Given the description of an element on the screen output the (x, y) to click on. 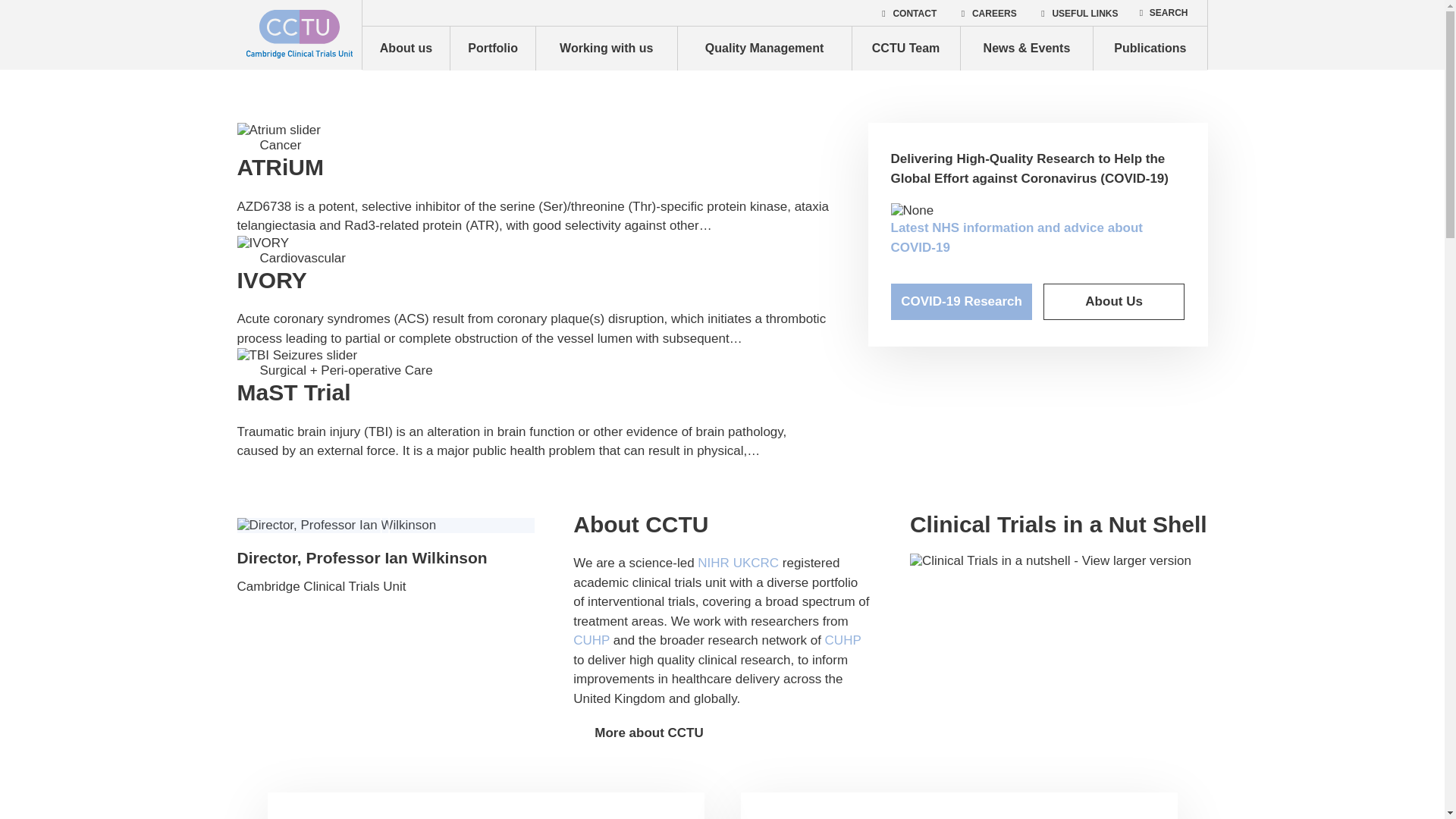
Publications (1150, 48)
CAREERS (987, 13)
Portfolio (491, 48)
About us (405, 48)
USEFUL LINKS (1078, 13)
Home (298, 34)
CONTACT (907, 13)
Quality Management (764, 48)
CCTU Team (905, 48)
Working with us (606, 48)
